Given the description of an element on the screen output the (x, y) to click on. 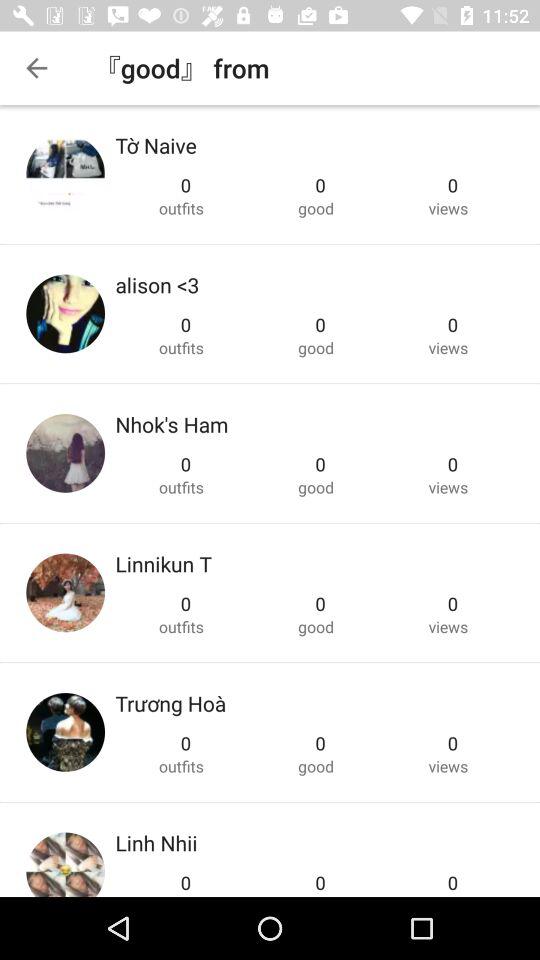
choose the alison <3 (157, 284)
